Given the description of an element on the screen output the (x, y) to click on. 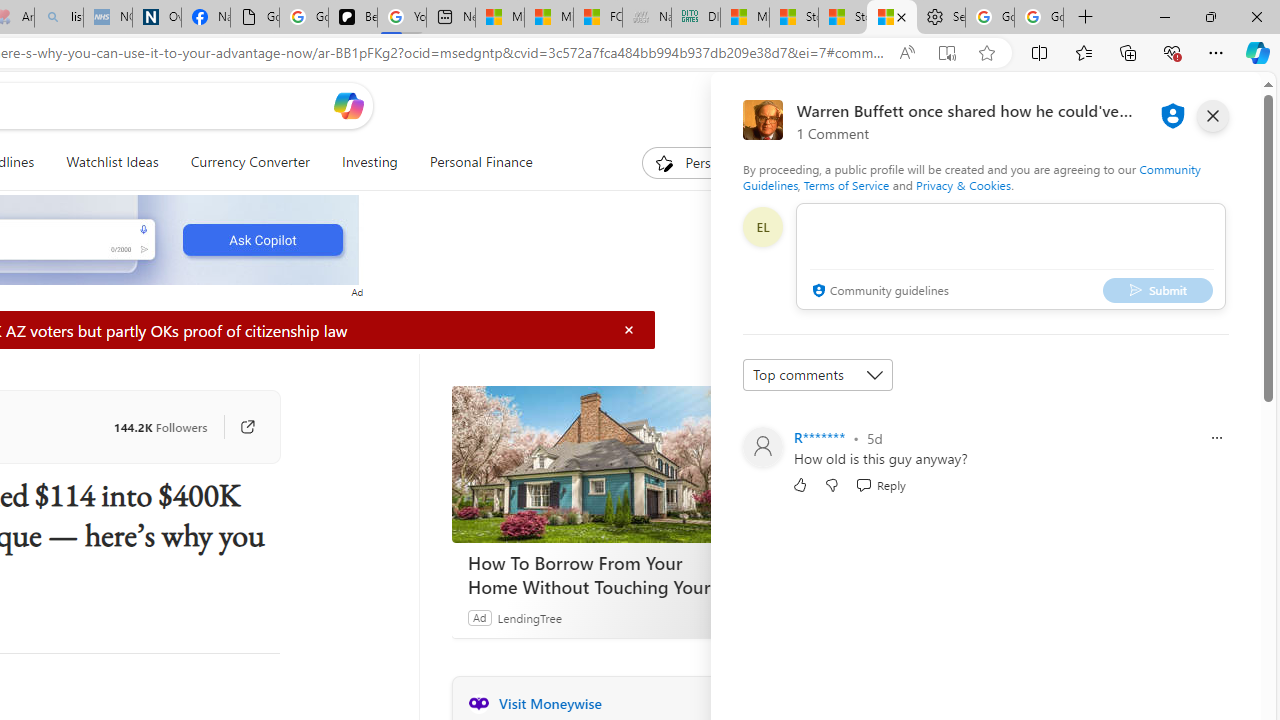
Community guidelines (878, 291)
Notifications (1176, 105)
NCL Adult Asthma Inhaler Choice Guideline - Sleeping (107, 17)
Like (799, 484)
Go to publisher's site (237, 426)
Moneywise (478, 703)
close (1212, 115)
Profile Picture (762, 446)
Microsoft rewards (1137, 105)
